Given the description of an element on the screen output the (x, y) to click on. 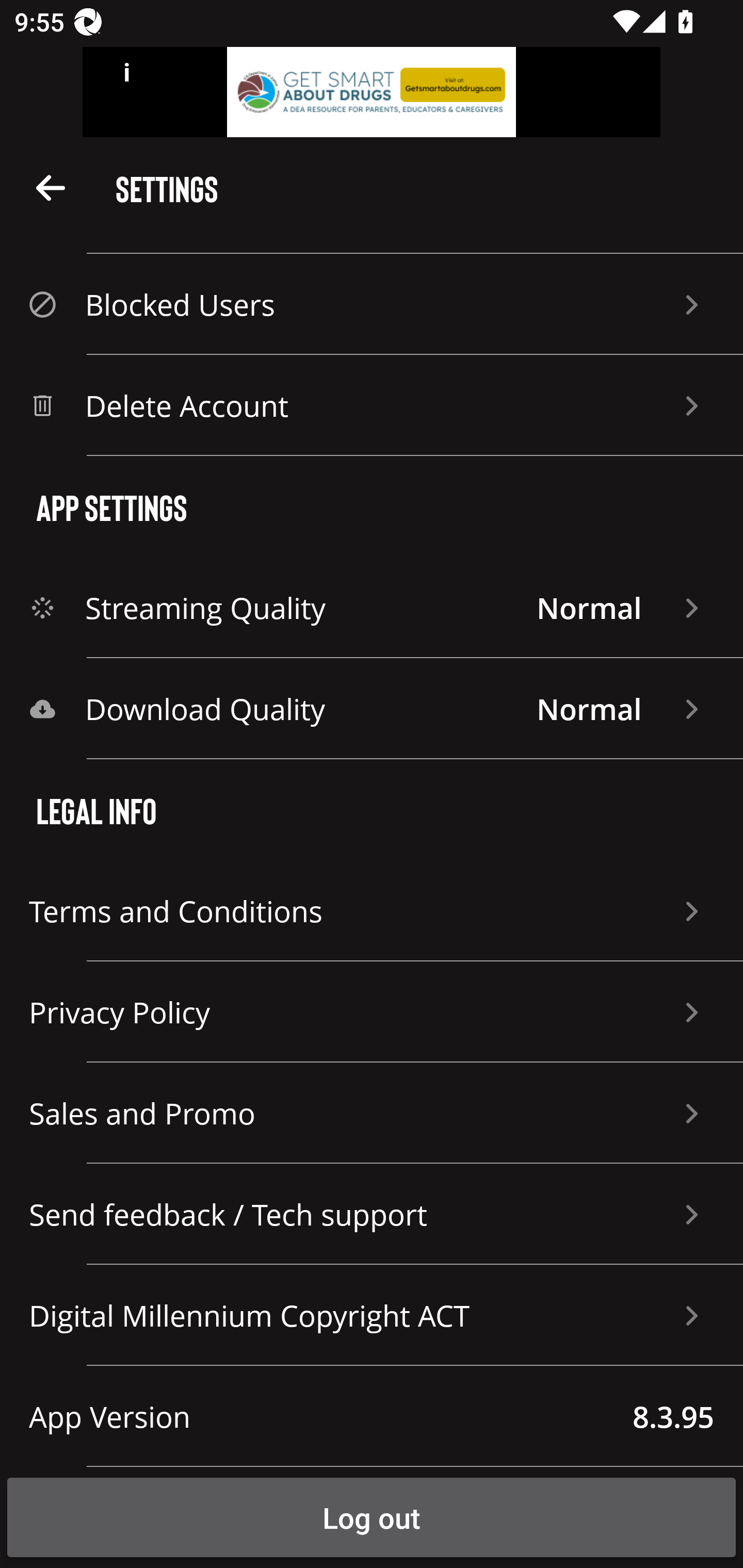
Description (50, 187)
Blocked Users (371, 304)
Delete Account (371, 405)
Streaming Quality Normal (371, 607)
Download Quality Normal (371, 708)
Terms and Conditions (371, 910)
Privacy Policy (371, 1012)
Sales and Promo (371, 1113)
Send feedback / Tech support (371, 1214)
Digital Millennium Copyright ACT (371, 1315)
Log out (371, 1517)
